Given the description of an element on the screen output the (x, y) to click on. 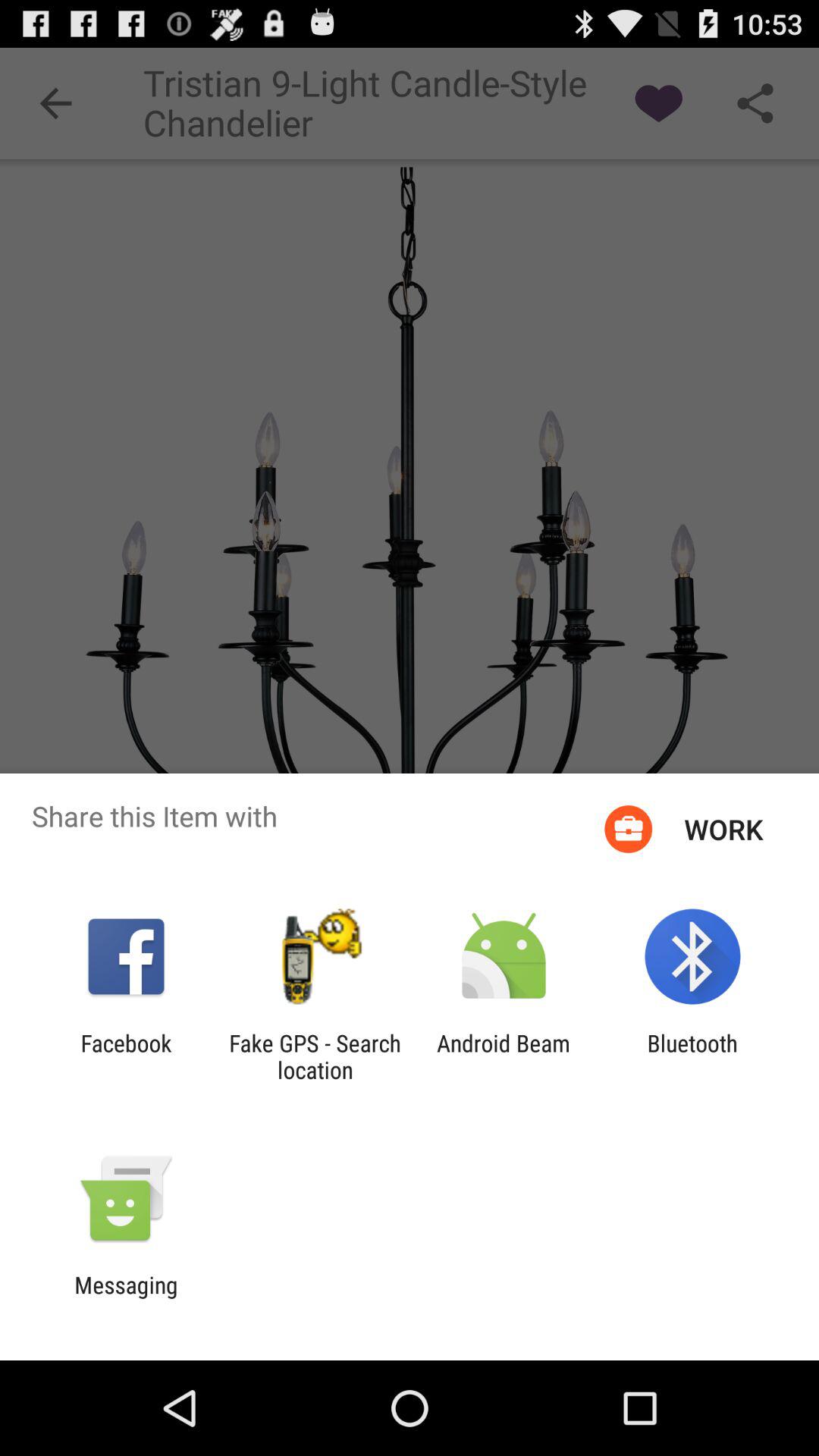
turn on the app to the right of the facebook app (314, 1056)
